Given the description of an element on the screen output the (x, y) to click on. 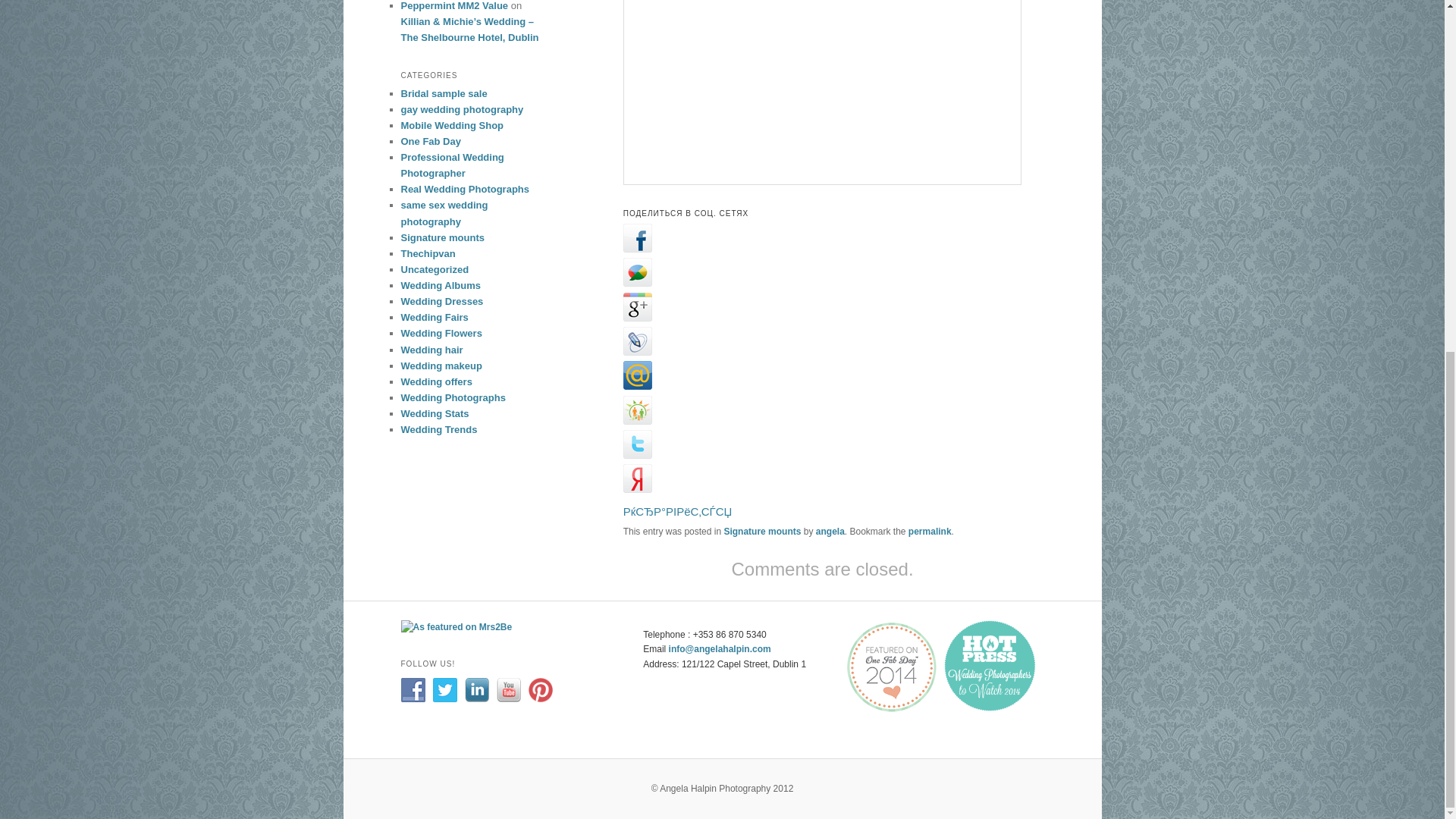
angela (829, 531)
Share to Odnoklassniki (637, 420)
Share to Yandex (637, 488)
Share to MyWorld (637, 385)
Share to Facebook (637, 247)
Share to Google Buzz (637, 282)
Signature mounts (761, 531)
Share to Google Plus (637, 317)
Share to Twitter (637, 454)
Share to LiveJournal (637, 350)
permalink (930, 531)
Home Interiors, Dublin, Ireland (822, 92)
Home Interiors, Dublin, Ireland (822, 92)
